Given the description of an element on the screen output the (x, y) to click on. 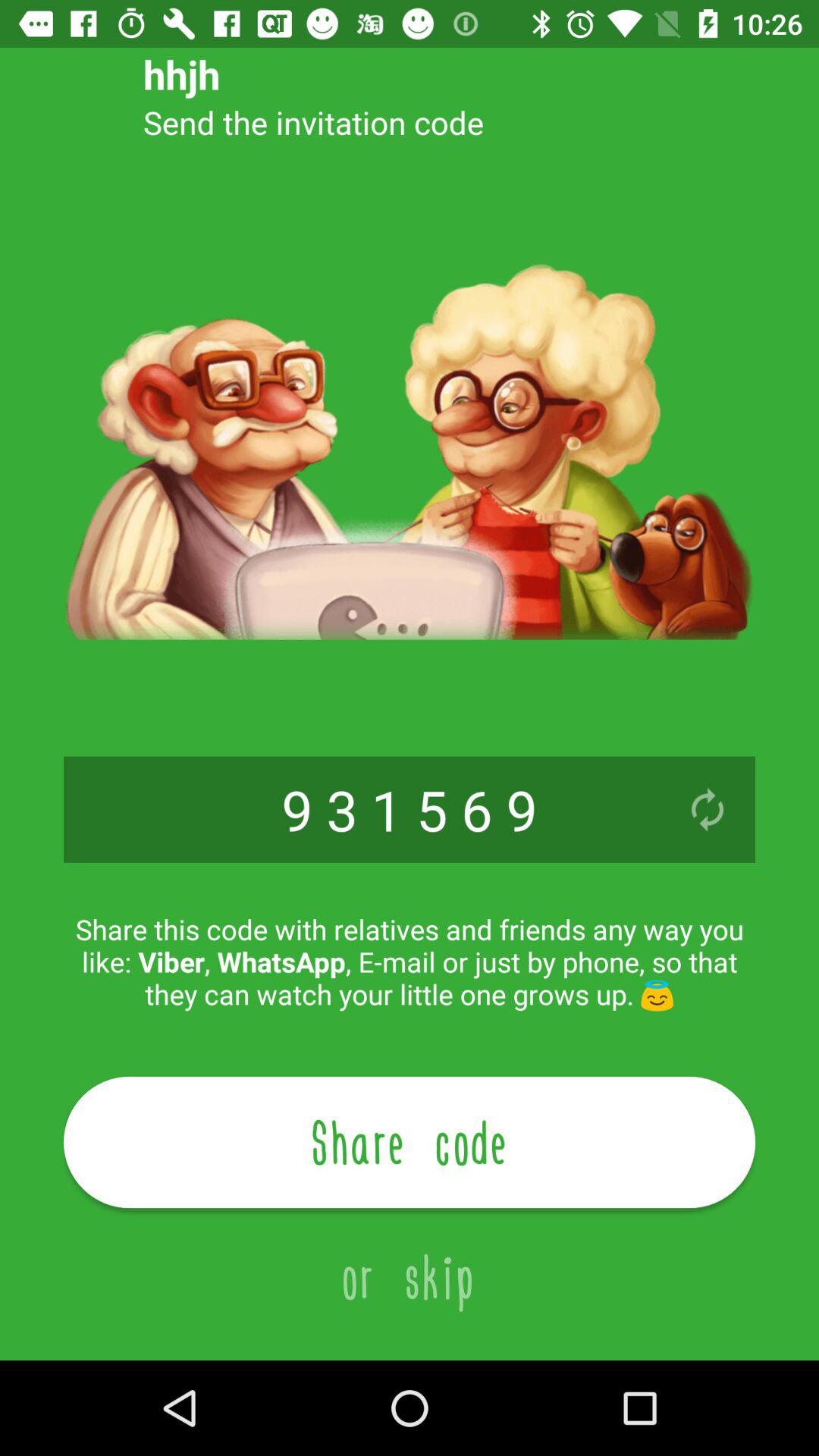
turn off item next to 9 3 1 icon (707, 809)
